Given the description of an element on the screen output the (x, y) to click on. 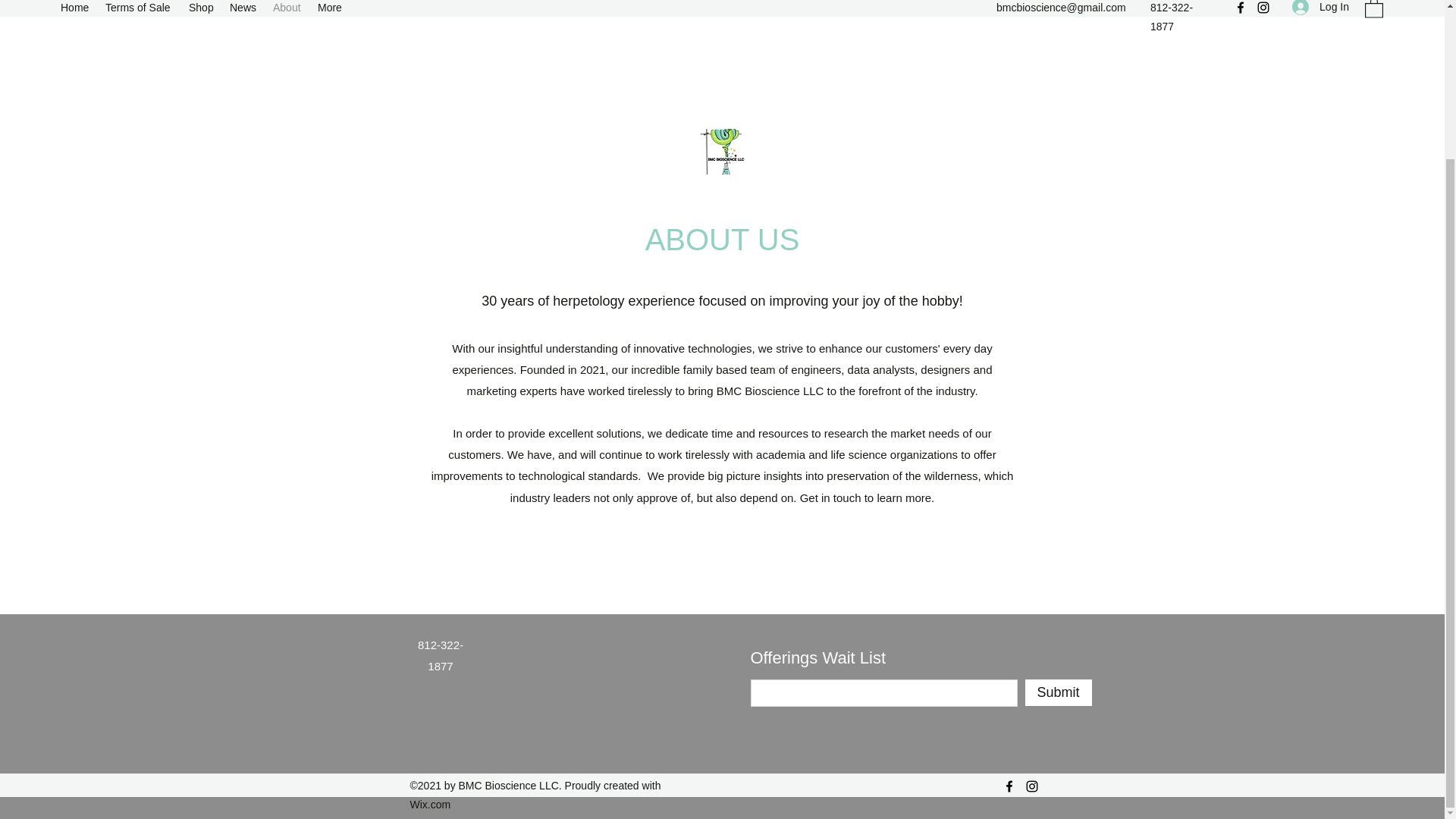
Submit (1058, 692)
Terms of Sale (138, 9)
Home (74, 9)
Shop (201, 9)
Log In (1320, 10)
About (287, 9)
News (243, 9)
